Given the description of an element on the screen output the (x, y) to click on. 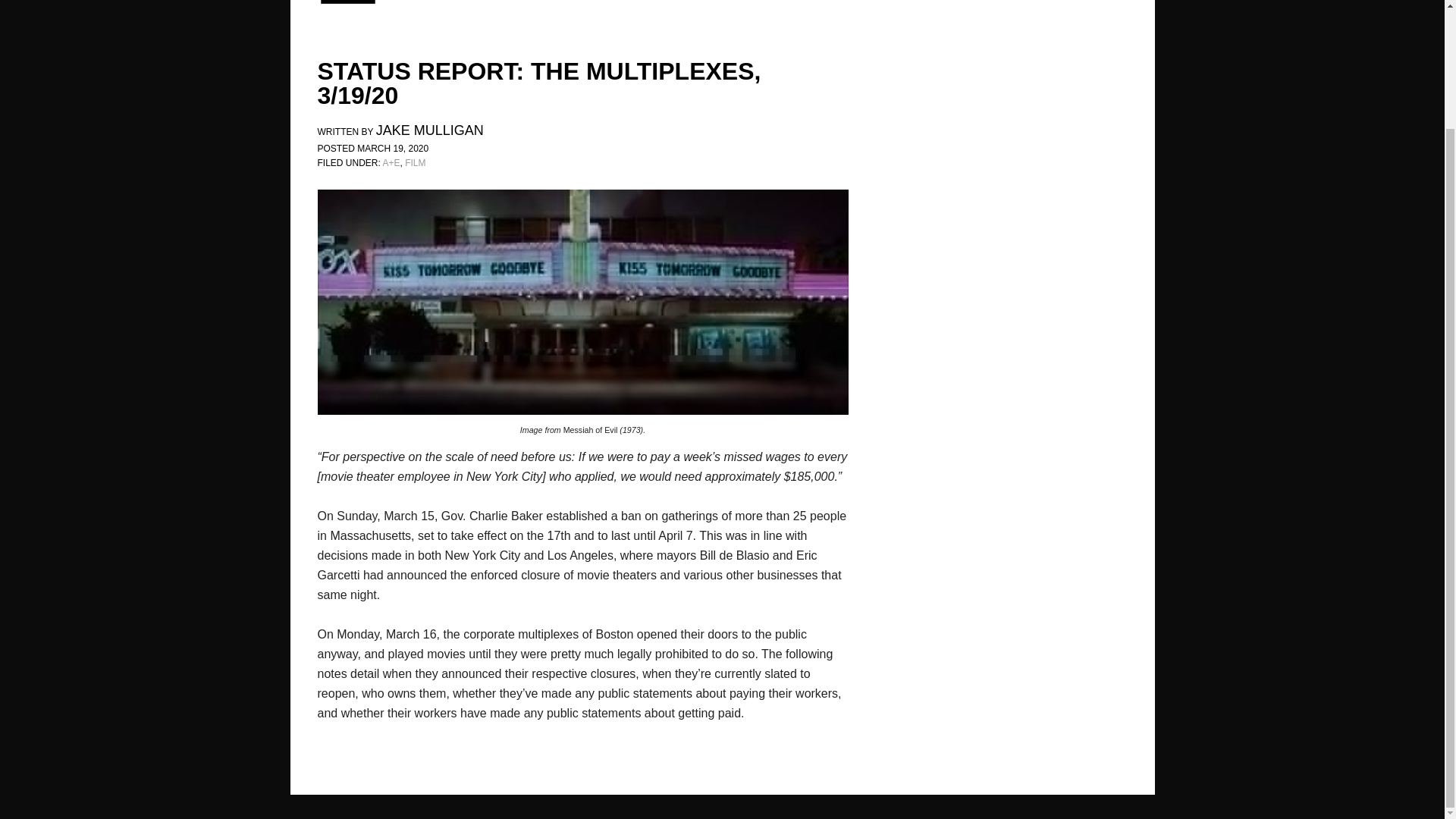
DIG BOS (419, 3)
JAKE MULLIGAN (429, 131)
FILM (414, 163)
